Given the description of an element on the screen output the (x, y) to click on. 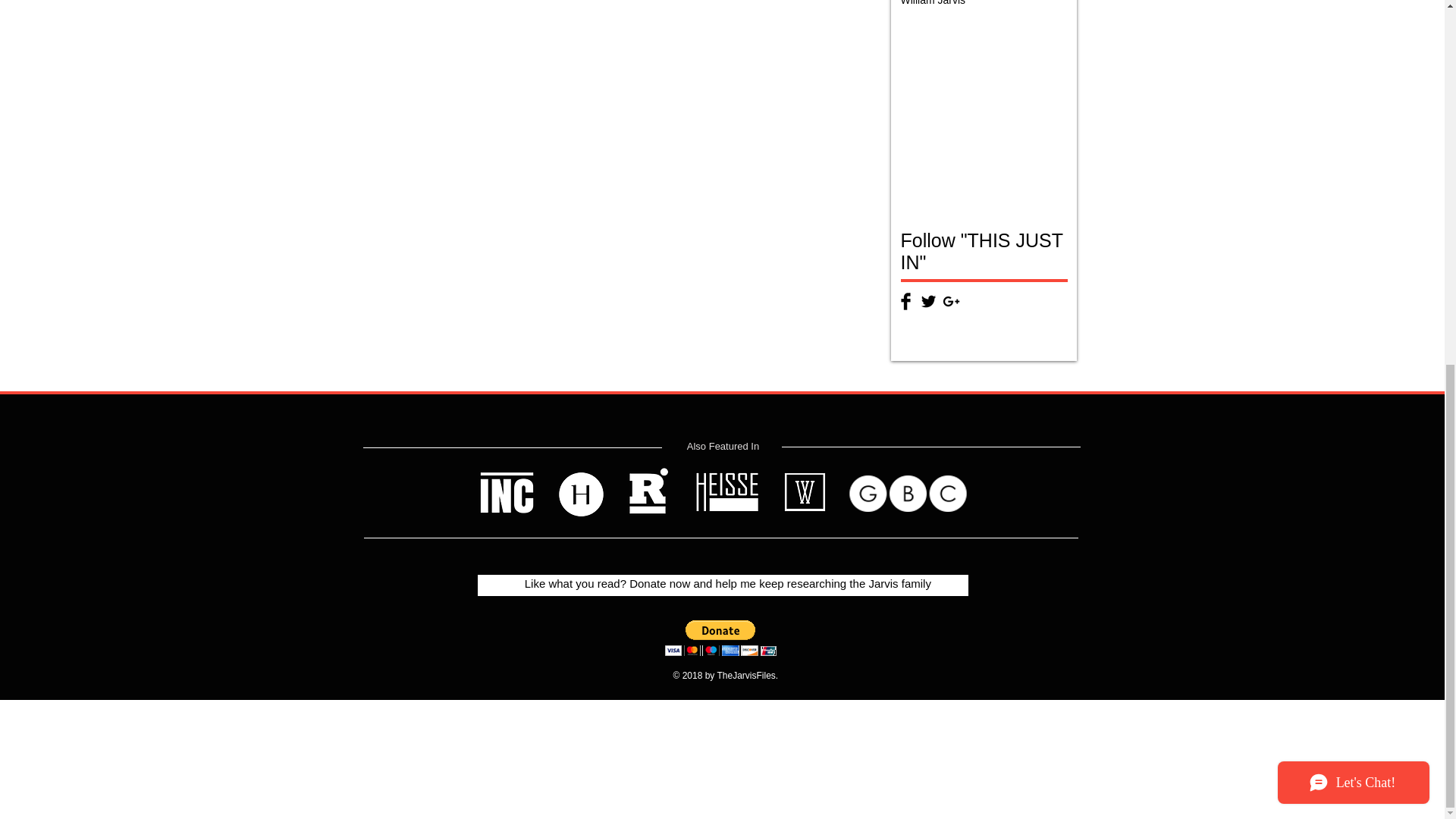
William Jarvis (933, 2)
